Given the description of an element on the screen output the (x, y) to click on. 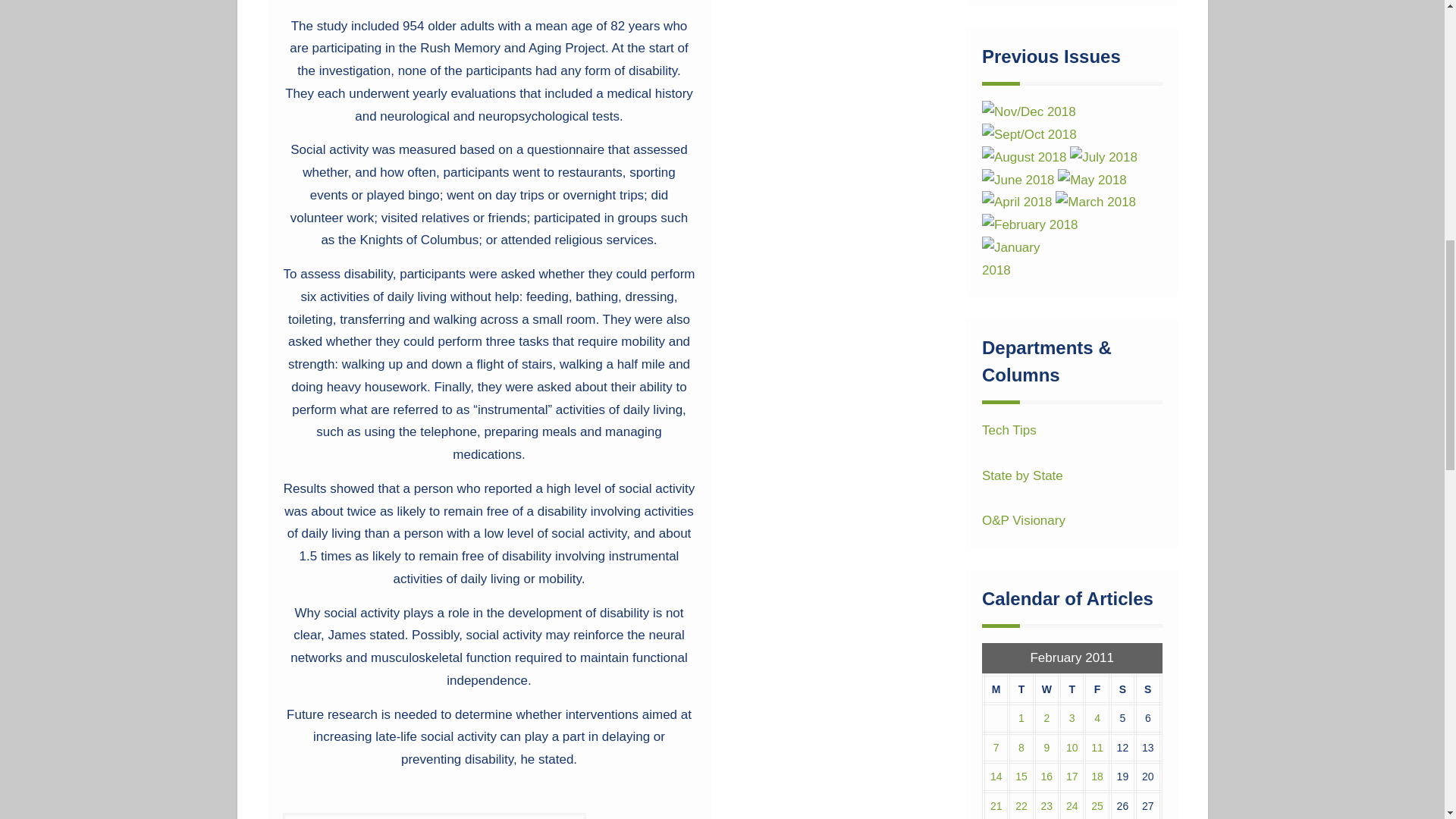
April 2018 (1016, 201)
June 2018 (1017, 179)
May 2018 (1092, 179)
July 2018 (1103, 157)
Wounded Warrior Project Launches New PSAs (434, 816)
March 2018 (1095, 201)
February 2018 (1029, 224)
January 2018 (1021, 258)
August 2018 (1023, 157)
